Given the description of an element on the screen output the (x, y) to click on. 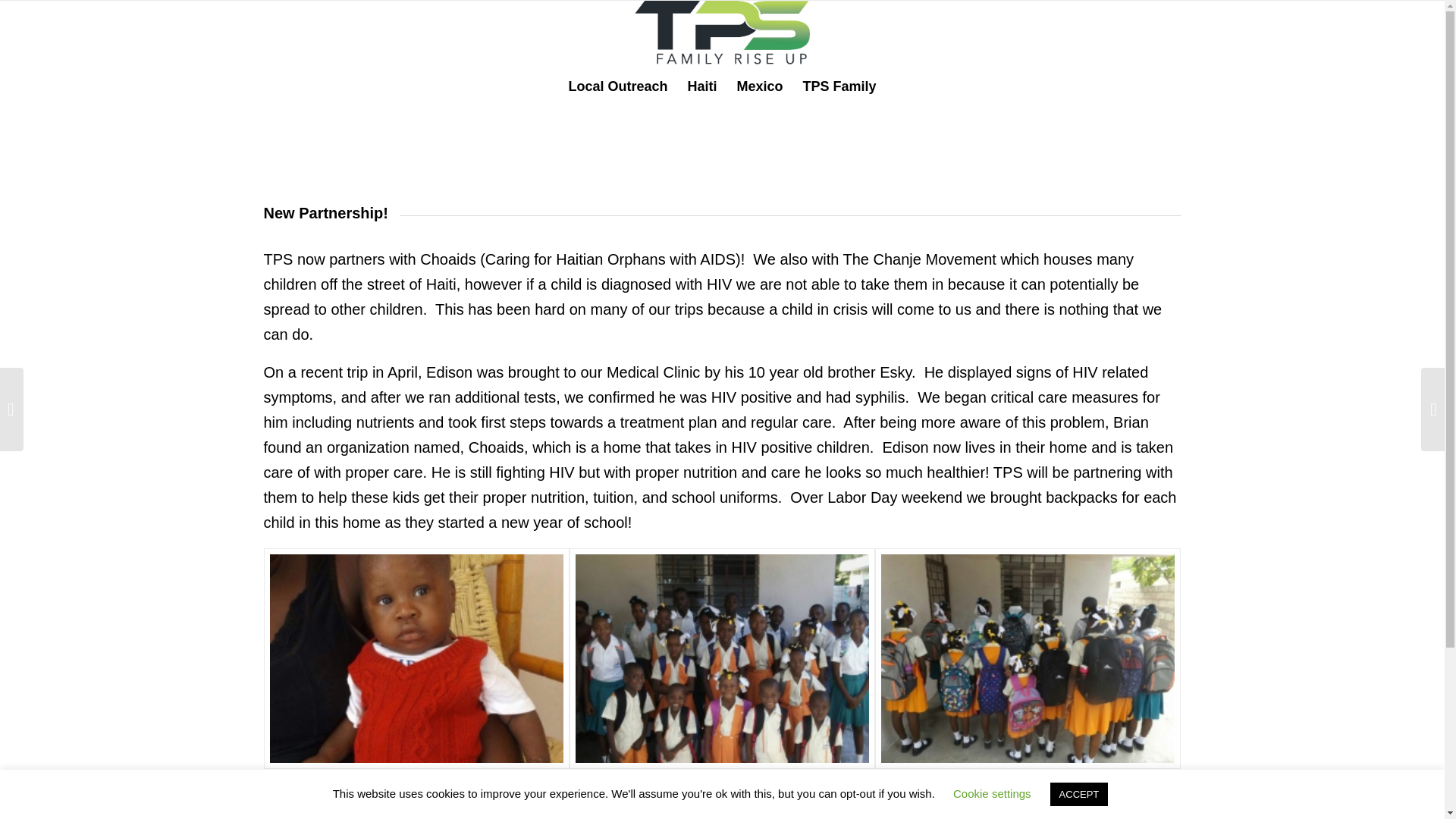
Mexico (759, 86)
ACCEPT (1078, 793)
TPS Family (839, 86)
TPS Family Rise Up Logo (722, 33)
Cookie settings (991, 793)
Local Outreach (617, 86)
Haiti (701, 86)
